Given the description of an element on the screen output the (x, y) to click on. 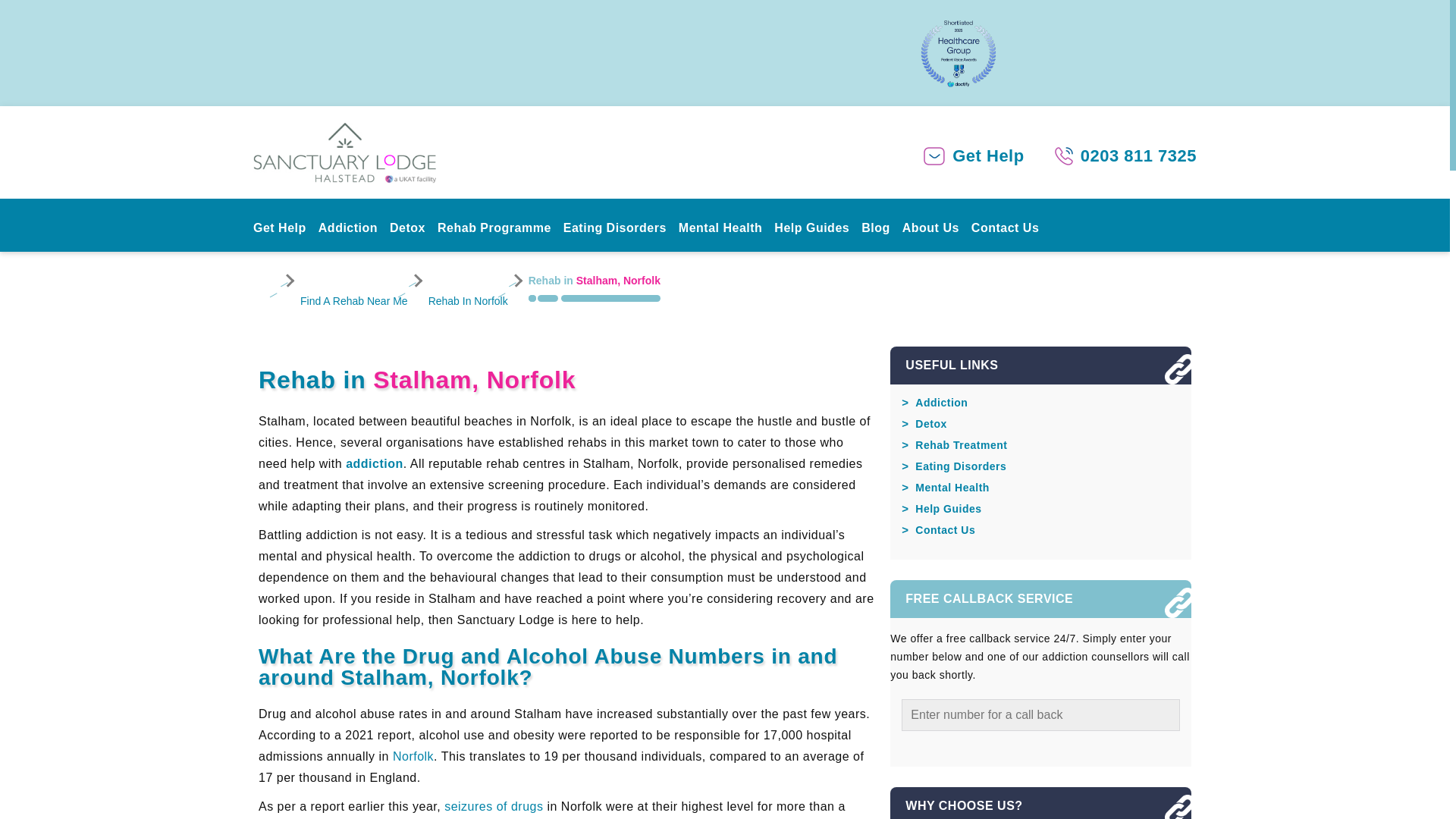
Addiction (351, 229)
0203 811 7325 (1138, 155)
Get Help (283, 229)
Get Help (987, 156)
